Given the description of an element on the screen output the (x, y) to click on. 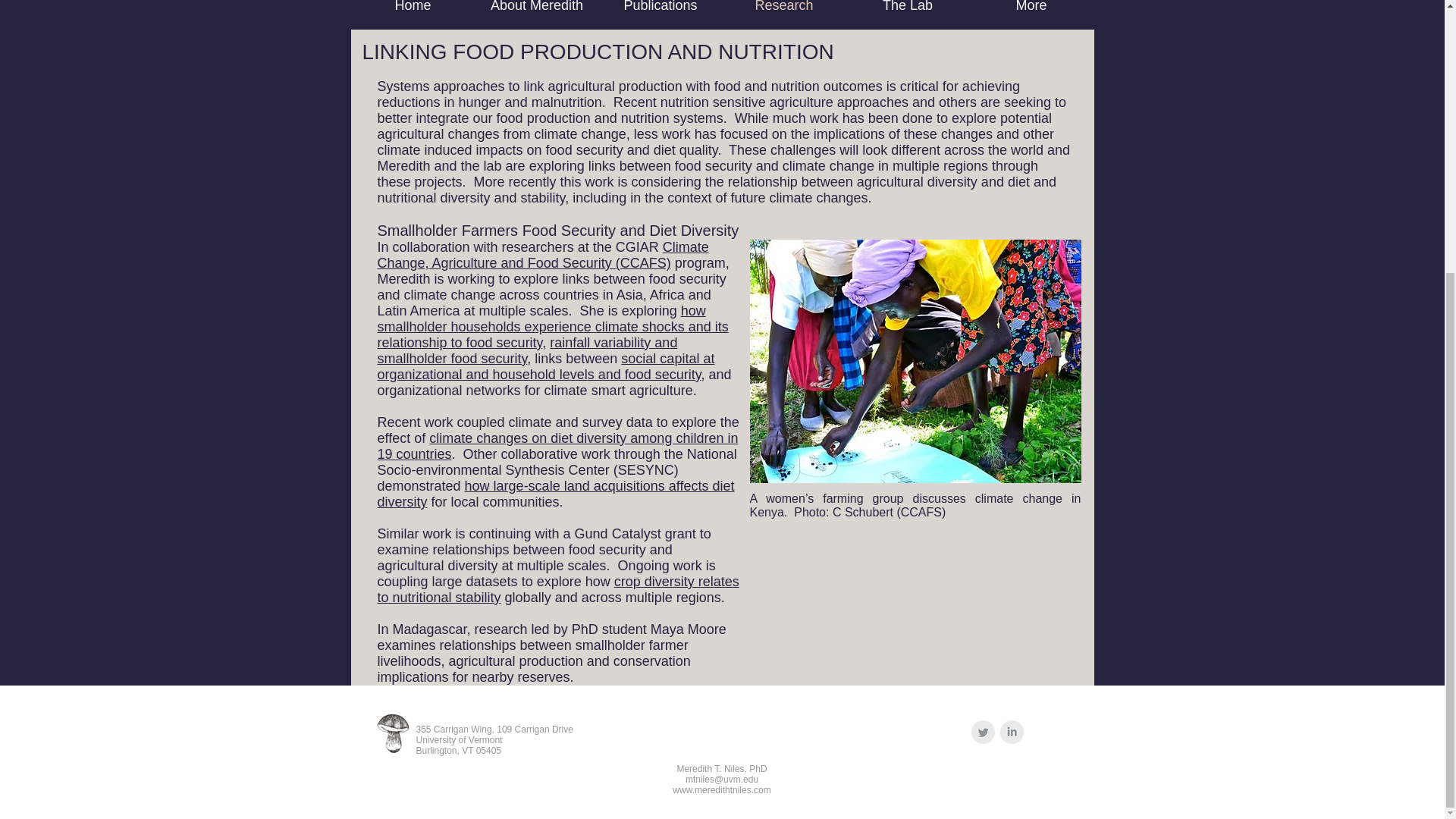
crop diversity relates to nutritional stability (558, 589)
Research (783, 14)
About Meredith (536, 14)
Publications (660, 14)
www.meredithtniles.com (721, 789)
The Lab (907, 14)
rainfall variability and smallholder food security (527, 350)
Home (412, 14)
how large-scale land acquisitions affects diet diversity (556, 493)
